Given the description of an element on the screen output the (x, y) to click on. 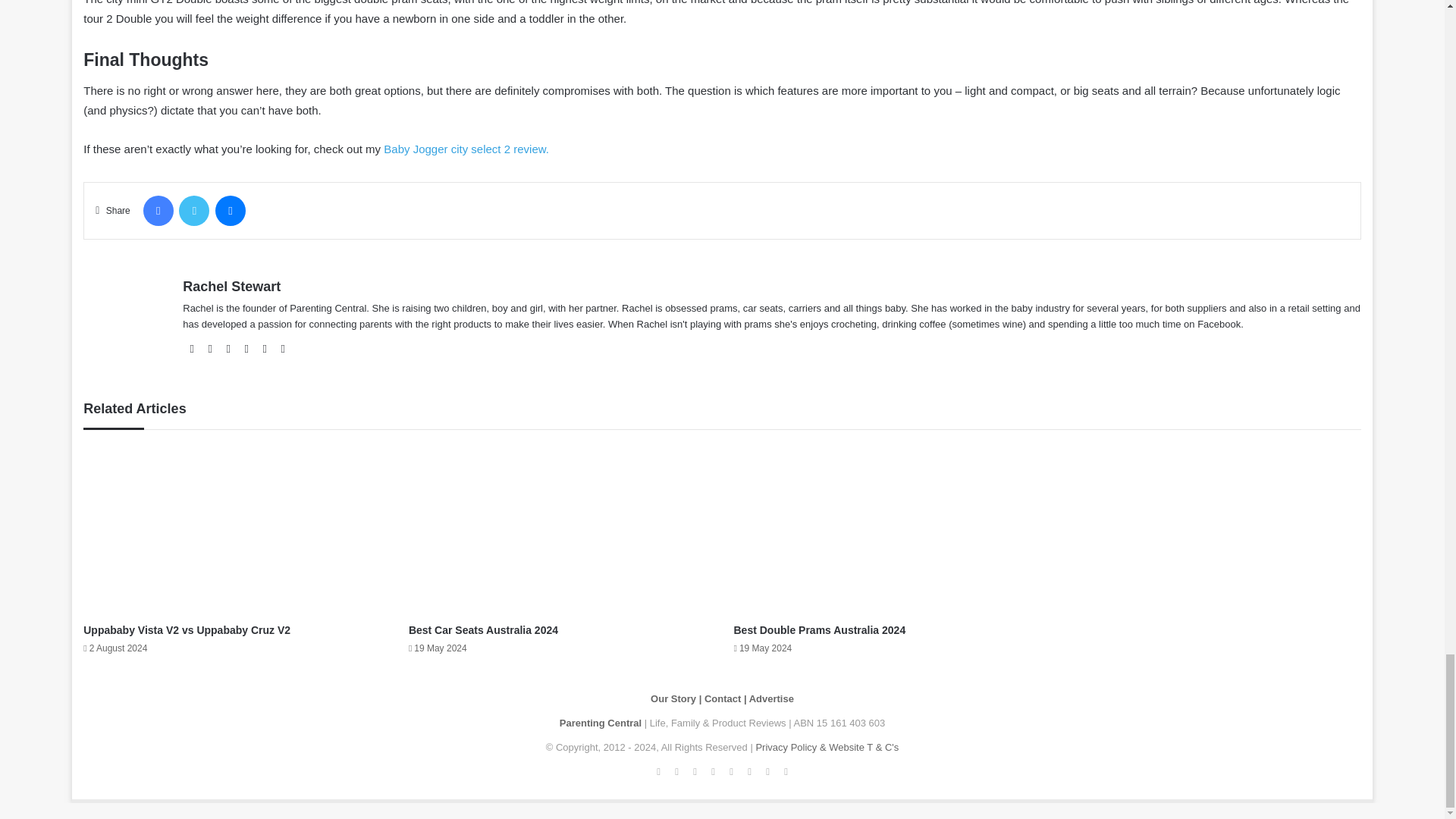
Messenger (230, 210)
X (194, 210)
Facebook (157, 210)
